Given the description of an element on the screen output the (x, y) to click on. 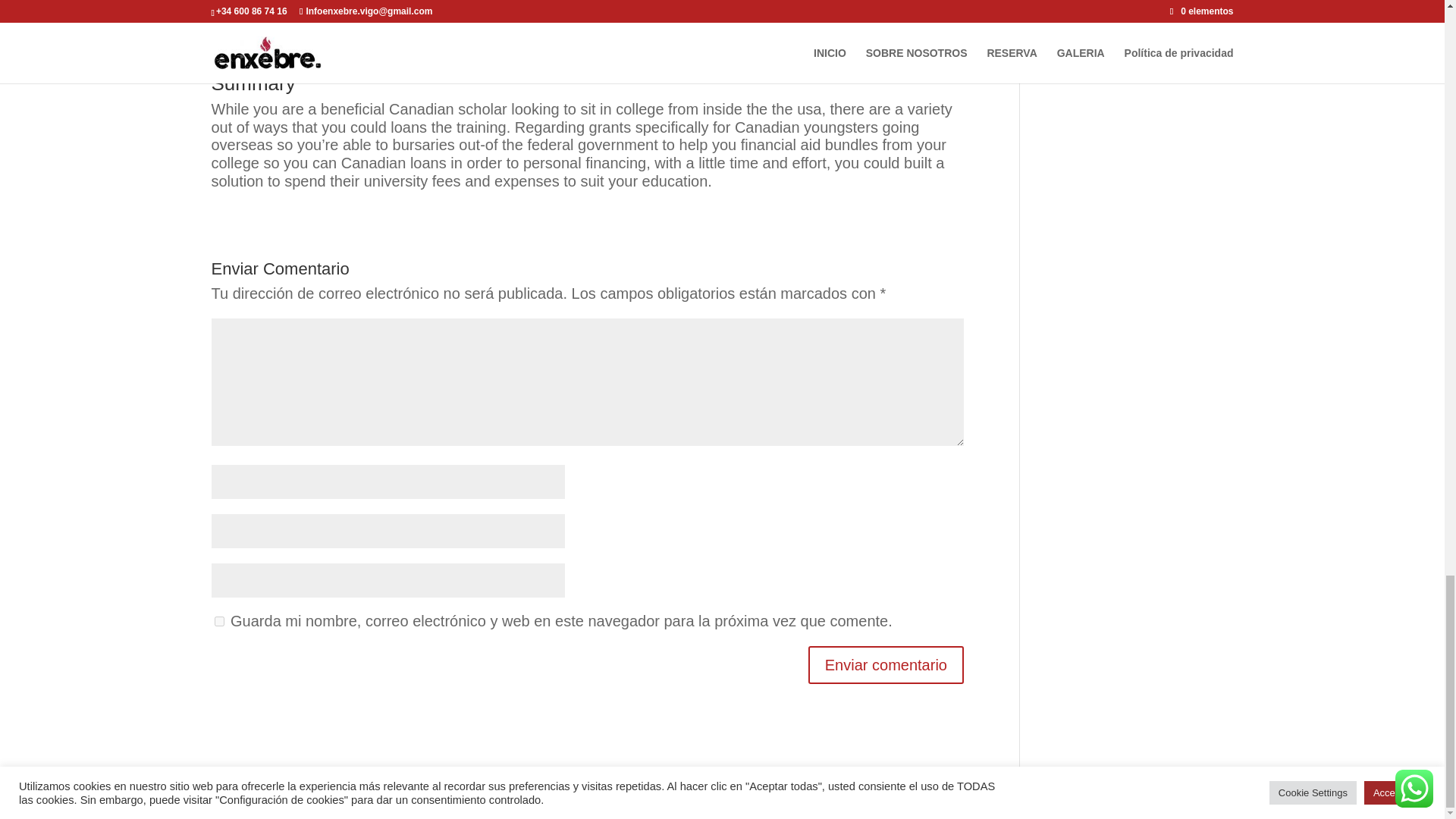
Enviar comentario (885, 664)
Enviar comentario (885, 664)
yes (219, 621)
